Given the description of an element on the screen output the (x, y) to click on. 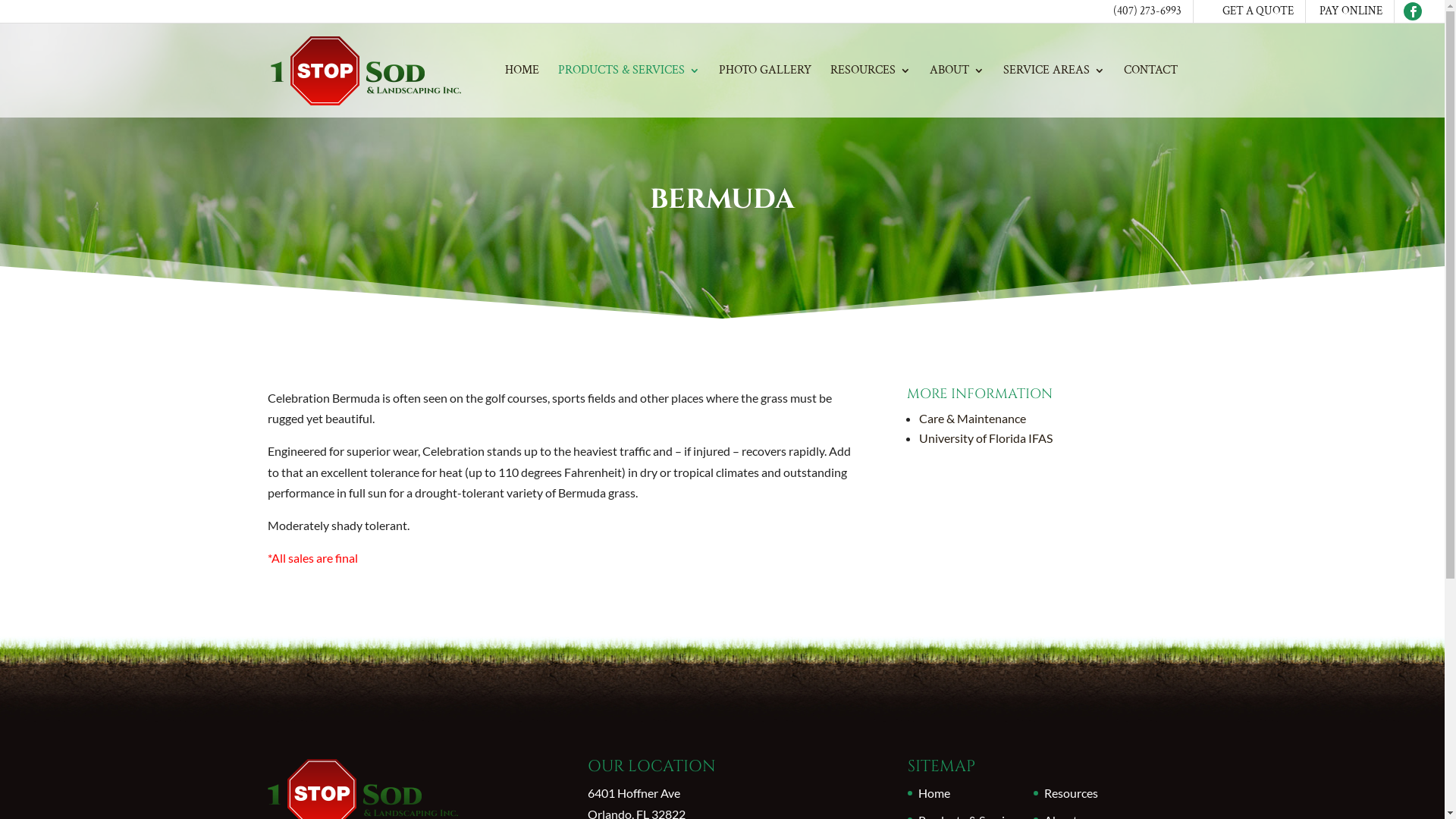
Home Element type: text (933, 792)
University of Florida IFAS Element type: text (985, 437)
PRODUCTS & SERVICES Element type: text (628, 91)
Resources Element type: text (1070, 792)
RESOURCES Element type: text (869, 91)
PAY ONLINE Element type: text (1350, 11)
CONTACT Element type: text (1150, 91)
SERVICE AREAS Element type: text (1053, 91)
PHOTO GALLERY Element type: text (764, 91)
(407) 273-6993 Element type: text (1147, 11)
GET A QUOTE Element type: text (1257, 11)
Care & Maintenance Element type: text (972, 418)
ABOUT Element type: text (956, 91)
HOME Element type: text (522, 91)
